Given the description of an element on the screen output the (x, y) to click on. 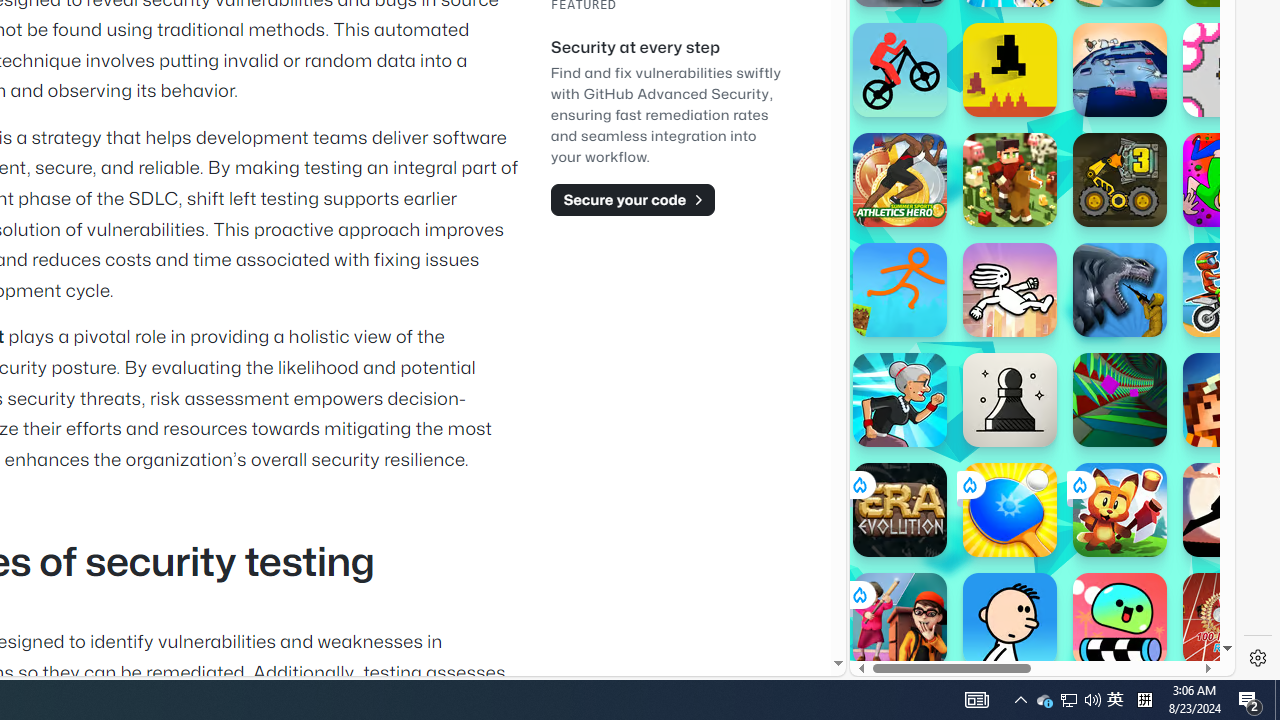
BoxRob 3 BoxRob 3 (1119, 179)
Fox Island Builder Fox Island Builder (1119, 509)
Crazy Cars (1217, 290)
Classic Chess Classic Chess (1009, 399)
Combat Reloaded (1090, 290)
Fox Island Builder (1119, 509)
Poor Eddie Poor Eddie (1009, 619)
poki.com (1092, 338)
100 Metres Race (1229, 619)
Athletics Hero (899, 179)
JollyWorld (1229, 179)
Secure your code (632, 199)
BoxRob 3 (1119, 179)
Combat Reloaded (1092, 200)
Apple Knight: Farmers Market (1009, 179)
